Given the description of an element on the screen output the (x, y) to click on. 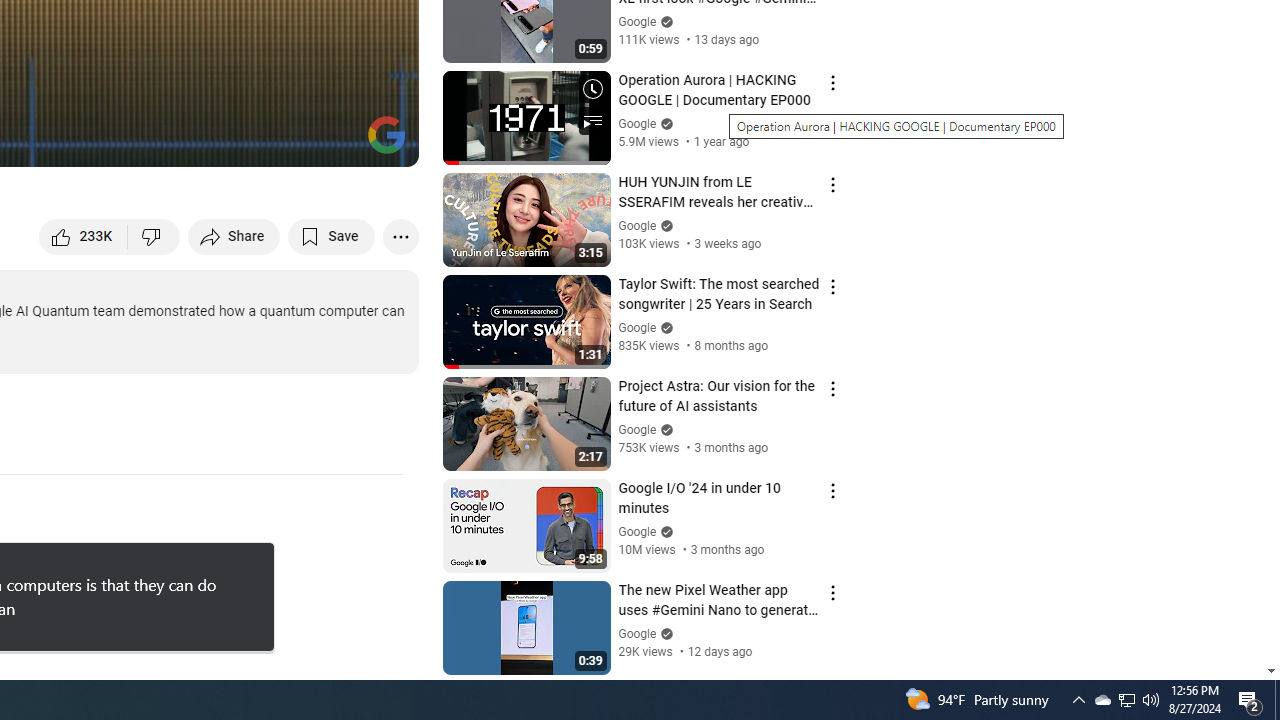
Share (234, 236)
Channel watermark (386, 134)
Theater mode (t) (333, 142)
like this video along with 233,071 other people (83, 236)
Channel watermark (386, 134)
Save to playlist (331, 236)
Action menu (832, 592)
More actions (399, 236)
